Given the description of an element on the screen output the (x, y) to click on. 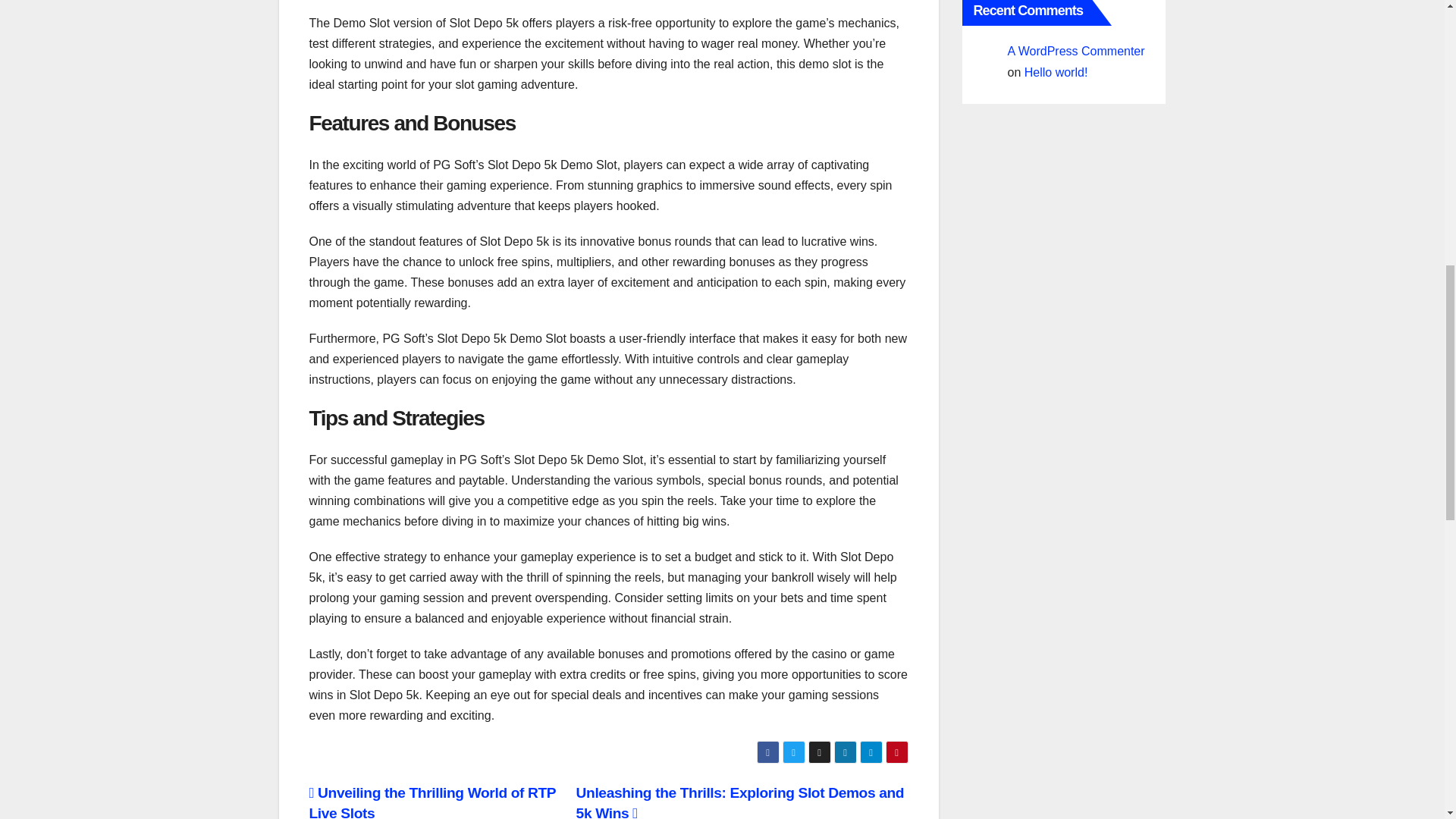
Unleashing the Thrills: Exploring Slot Demos and 5k Wins (740, 801)
Unveiling the Thrilling World of RTP Live Slots (432, 801)
